Given the description of an element on the screen output the (x, y) to click on. 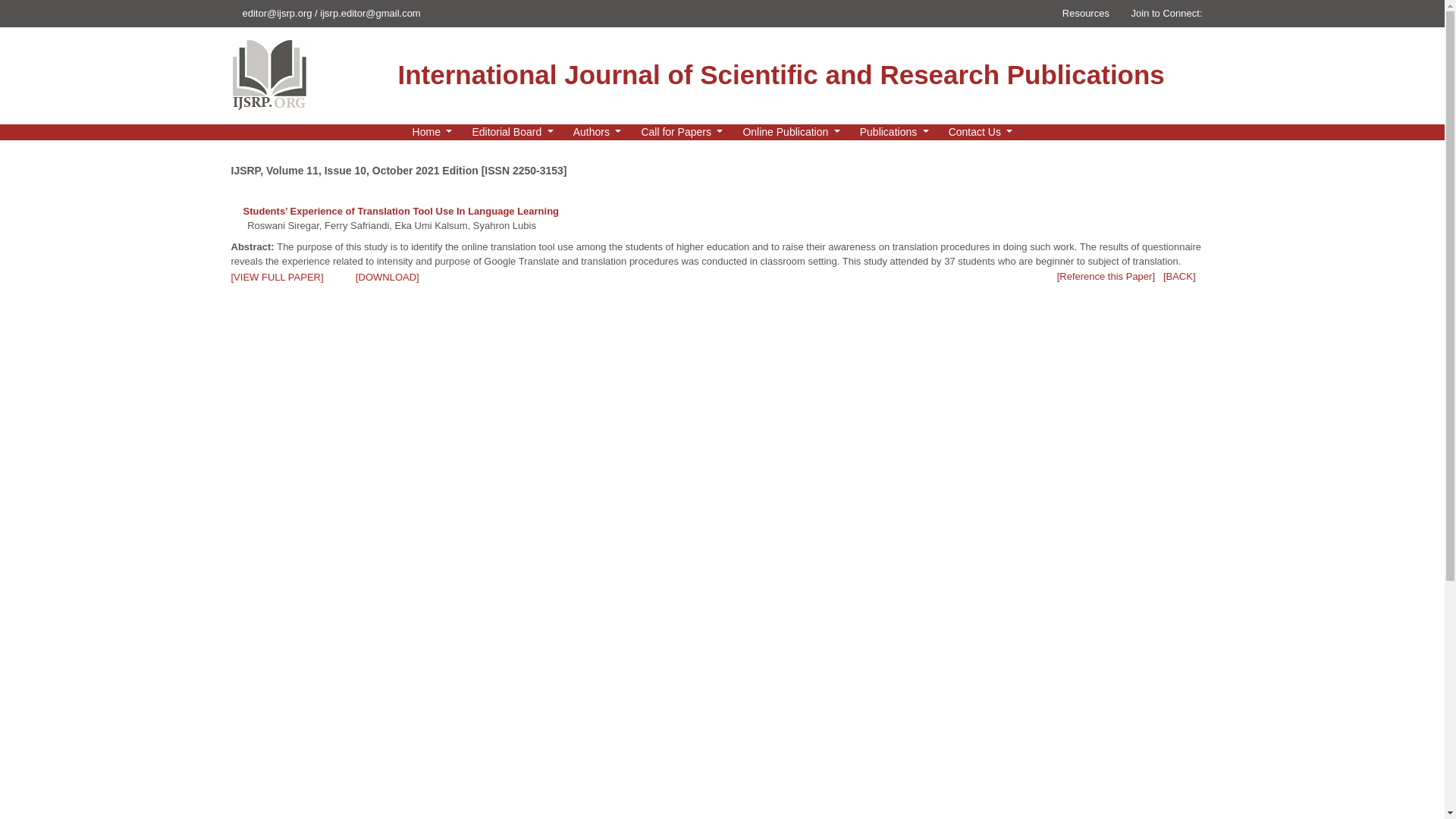
Online Publication (790, 132)
Authors (597, 132)
Home (432, 132)
Publications (893, 132)
Join to Connect: (1169, 12)
Call for Papers (681, 132)
Editorial Board (512, 132)
Resources (1083, 12)
